Given the description of an element on the screen output the (x, y) to click on. 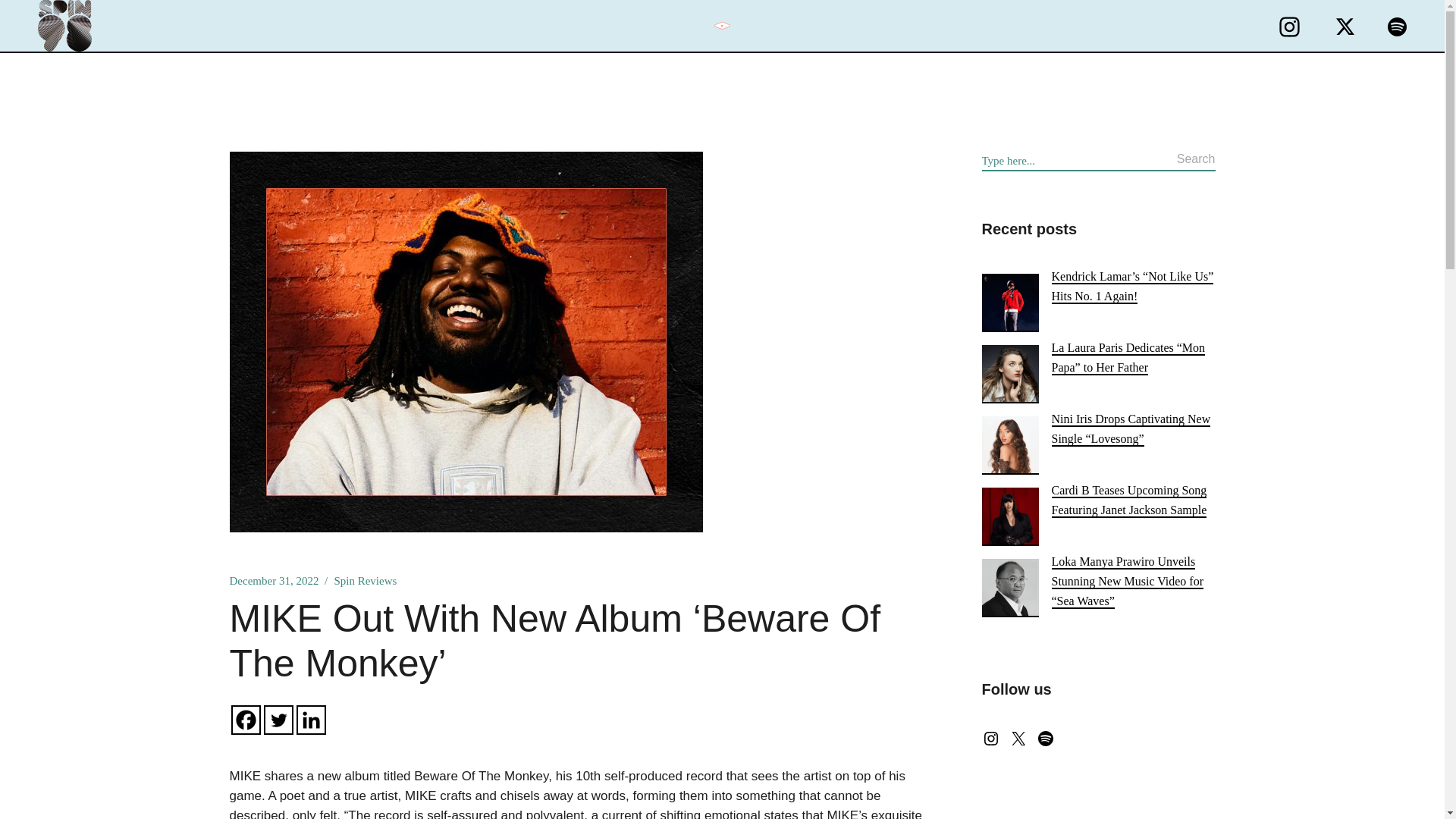
Facebook (245, 719)
Instagram (989, 738)
Search (1195, 161)
Cardi B Teases Upcoming Song Featuring Janet Jackson Sample (1129, 500)
Spin Reviews (364, 580)
Spotify (1044, 738)
Twitter (278, 719)
Linkedin (309, 719)
X (1017, 738)
December 31, 2022 (273, 580)
